Given the description of an element on the screen output the (x, y) to click on. 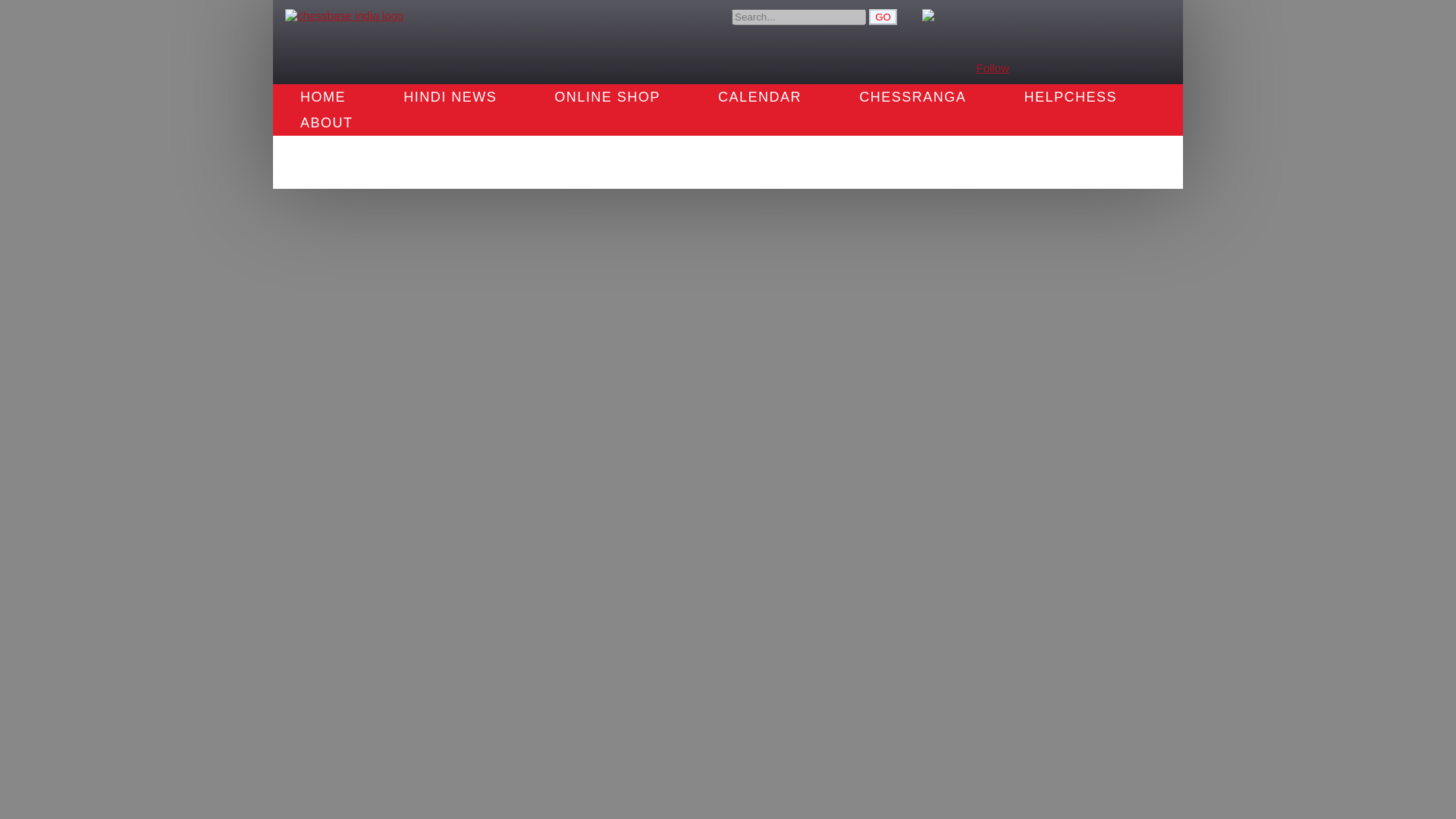
HINDI NEWS (449, 96)
Follow (992, 67)
ABOUT (326, 122)
HOME (322, 96)
GO (882, 17)
GO (882, 17)
HELPCHESS (1069, 96)
CHESSRANGA (911, 96)
CALENDAR (759, 96)
ONLINE SHOP (607, 96)
